Given the description of an element on the screen output the (x, y) to click on. 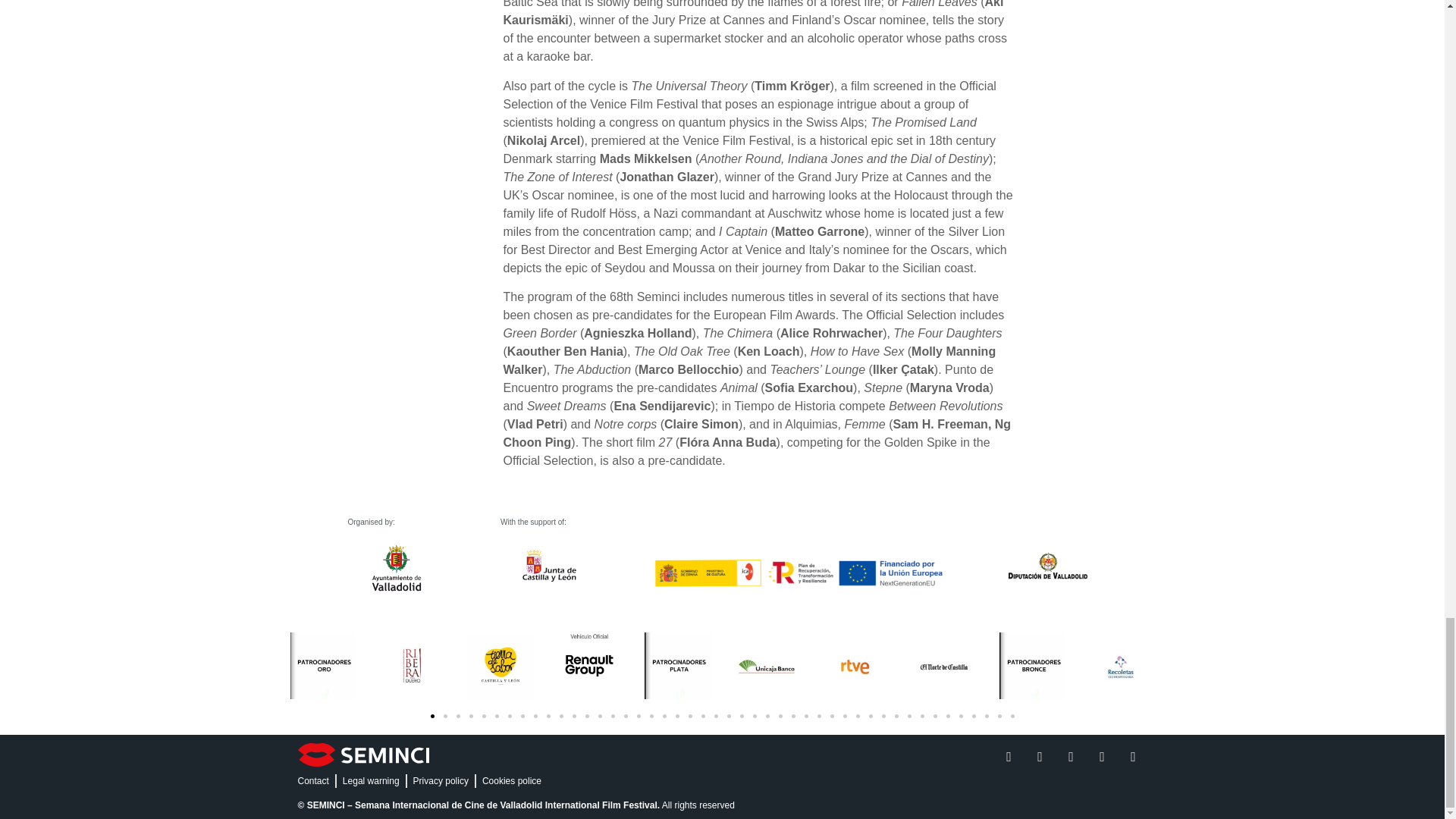
Privacy policy (440, 780)
Cookies police (511, 780)
Contact (313, 780)
Legal warning (370, 780)
